Given the description of an element on the screen output the (x, y) to click on. 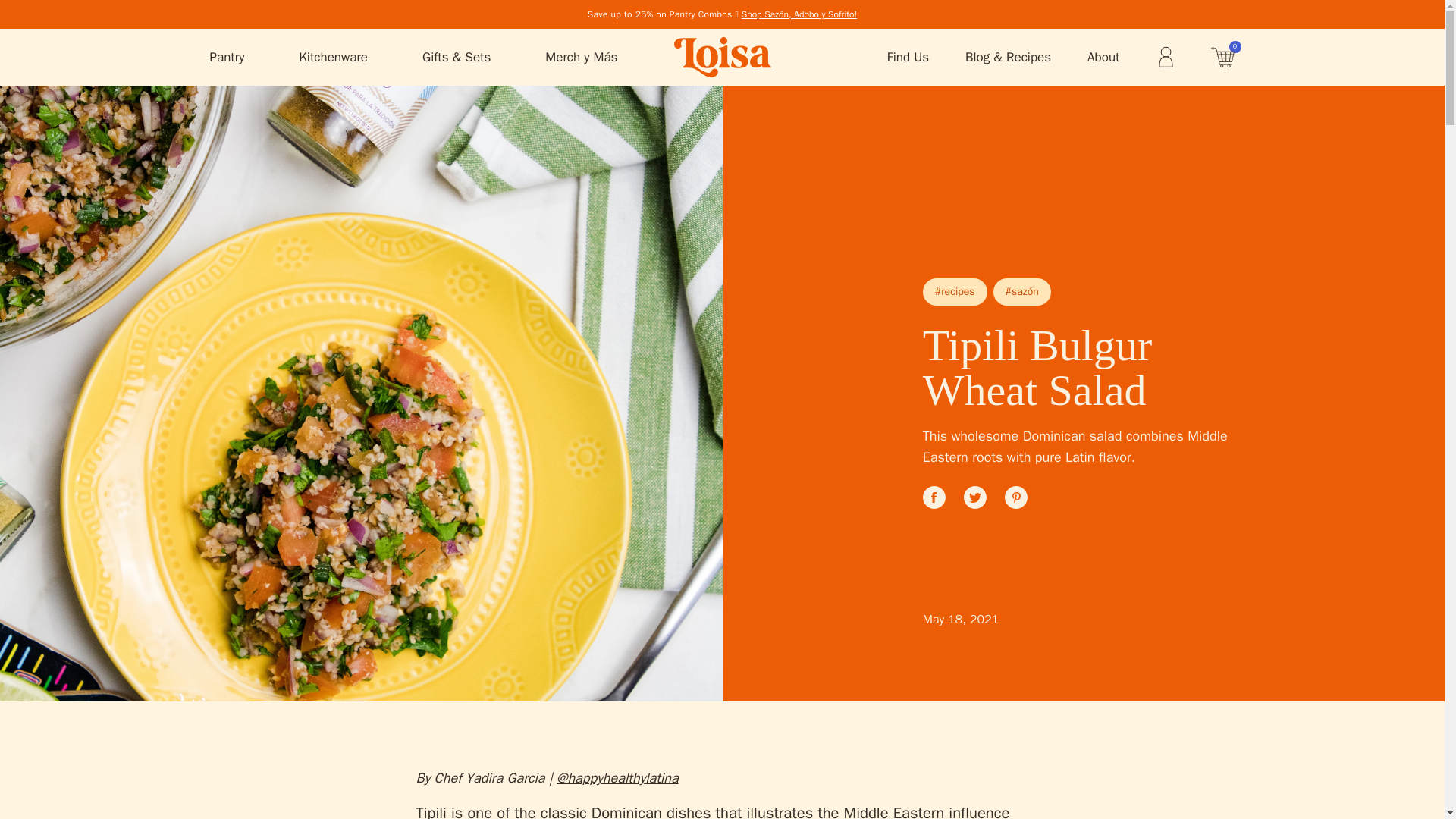
Pantry (226, 57)
Kitchenware (333, 57)
0 (1221, 56)
